Given the description of an element on the screen output the (x, y) to click on. 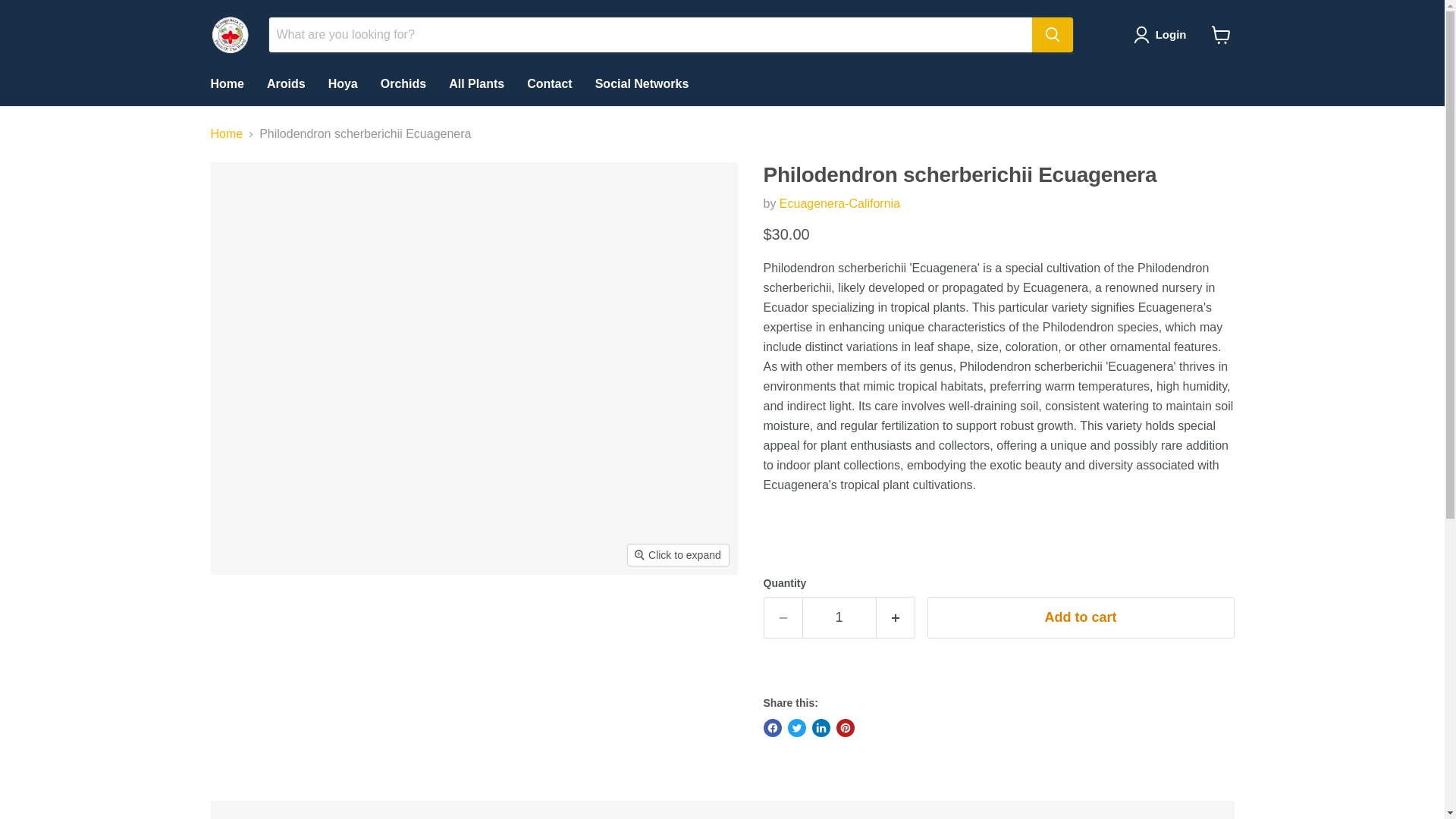
All Plants (476, 83)
Social Networks (641, 83)
Home (226, 83)
1 (839, 617)
Aroids (286, 83)
Home (227, 133)
View cart (1221, 34)
Login (1163, 34)
Ecuagenera-California (838, 203)
Click to expand (678, 554)
